Given the description of an element on the screen output the (x, y) to click on. 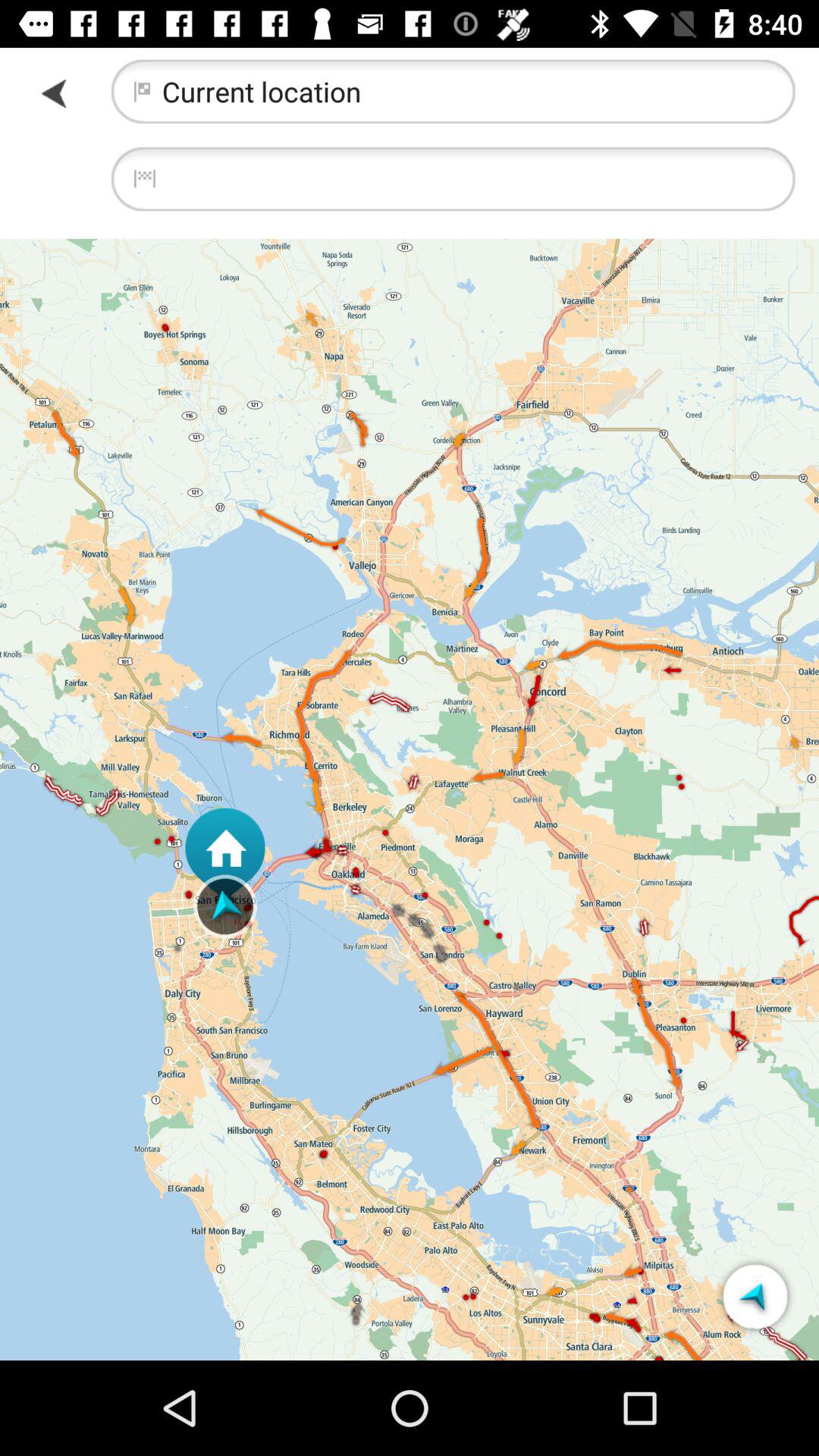
fill in the address (453, 179)
